Given the description of an element on the screen output the (x, y) to click on. 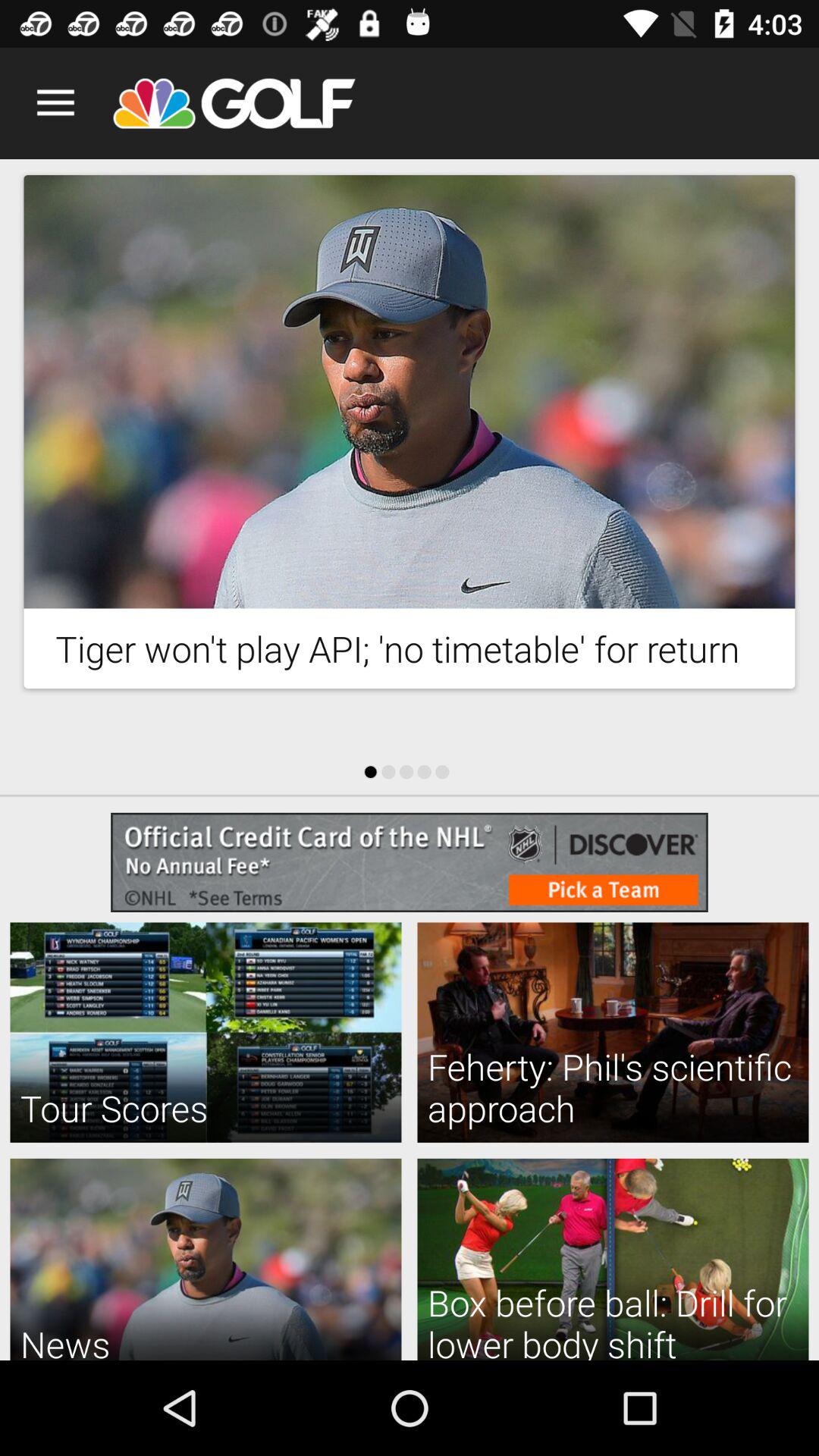
advertisement (409, 391)
